Given the description of an element on the screen output the (x, y) to click on. 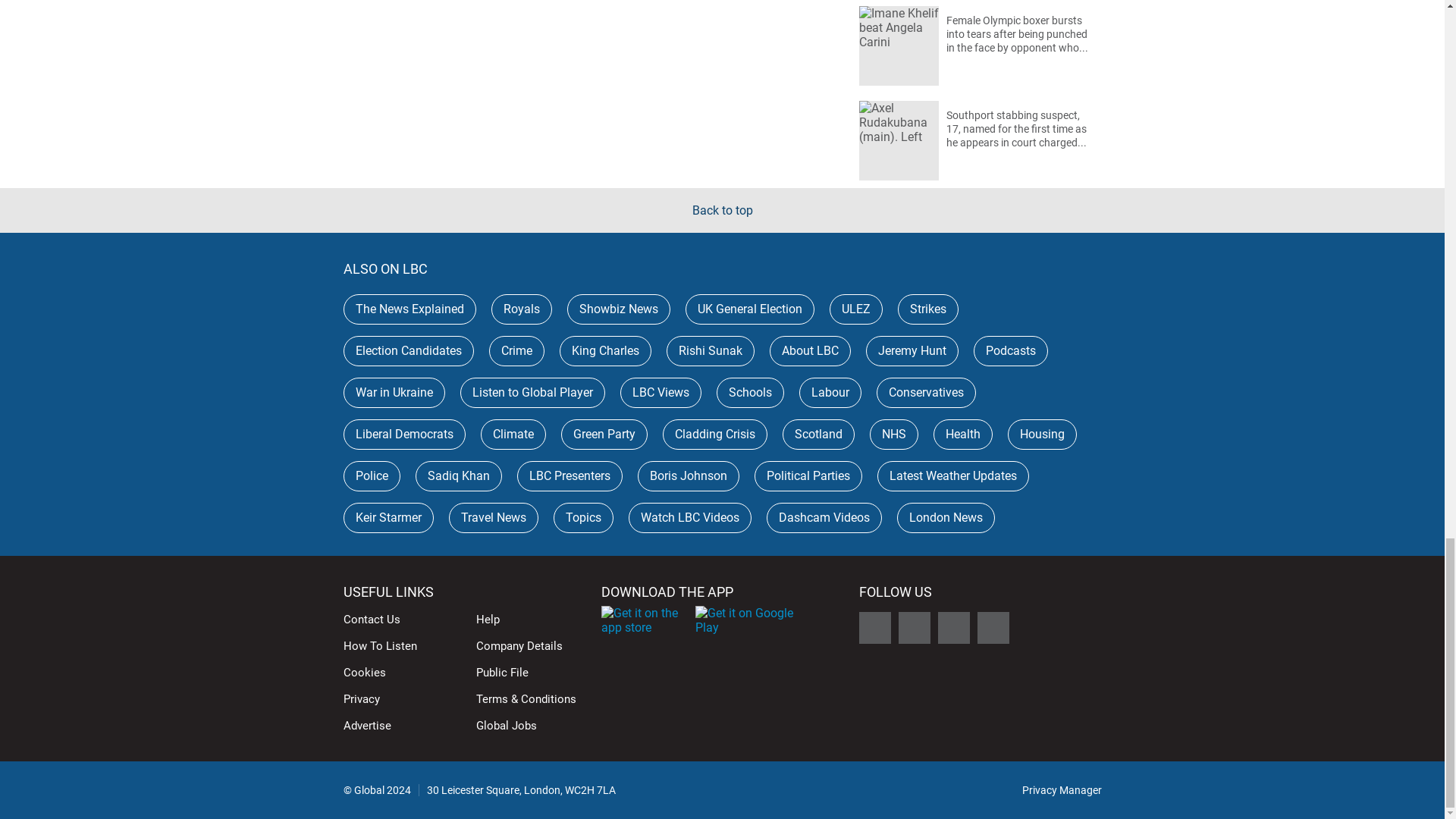
Follow LBC on Youtube (992, 627)
Follow LBC on X (874, 627)
Follow LBC on Instagram (953, 627)
Follow LBC on Facebook (914, 627)
Back to top (721, 210)
